Given the description of an element on the screen output the (x, y) to click on. 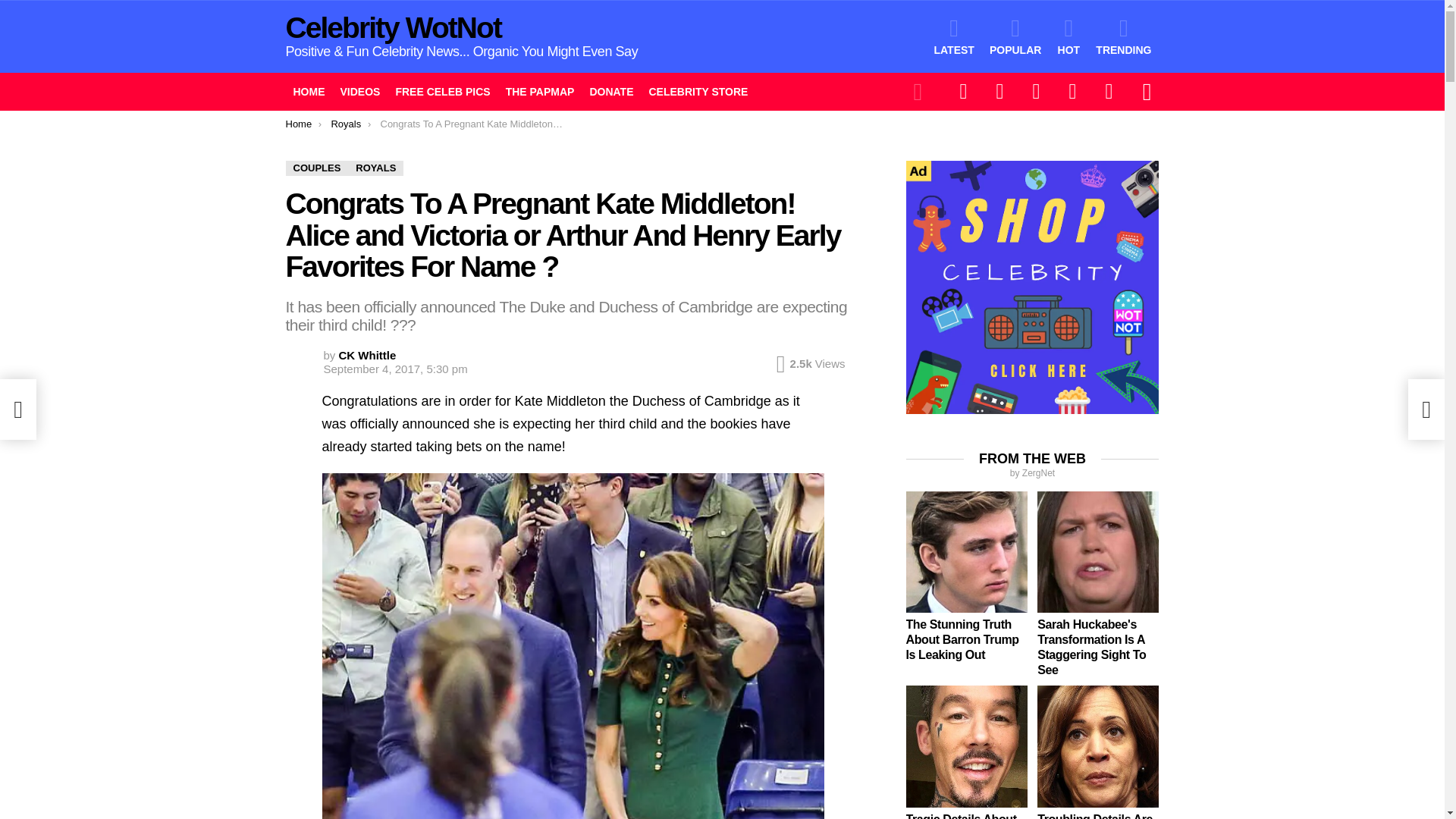
Celebrity WotNot YouTube (1108, 91)
COUPLES (316, 168)
Home (298, 123)
POPULAR (1014, 35)
FREE CELEB PICS (442, 91)
CELEBRITY STORE (697, 91)
Celebrity WotNot Facebook (962, 91)
HOME (308, 91)
Celebrity WotNot Pinterest (1072, 91)
HOT (1067, 35)
